Given the description of an element on the screen output the (x, y) to click on. 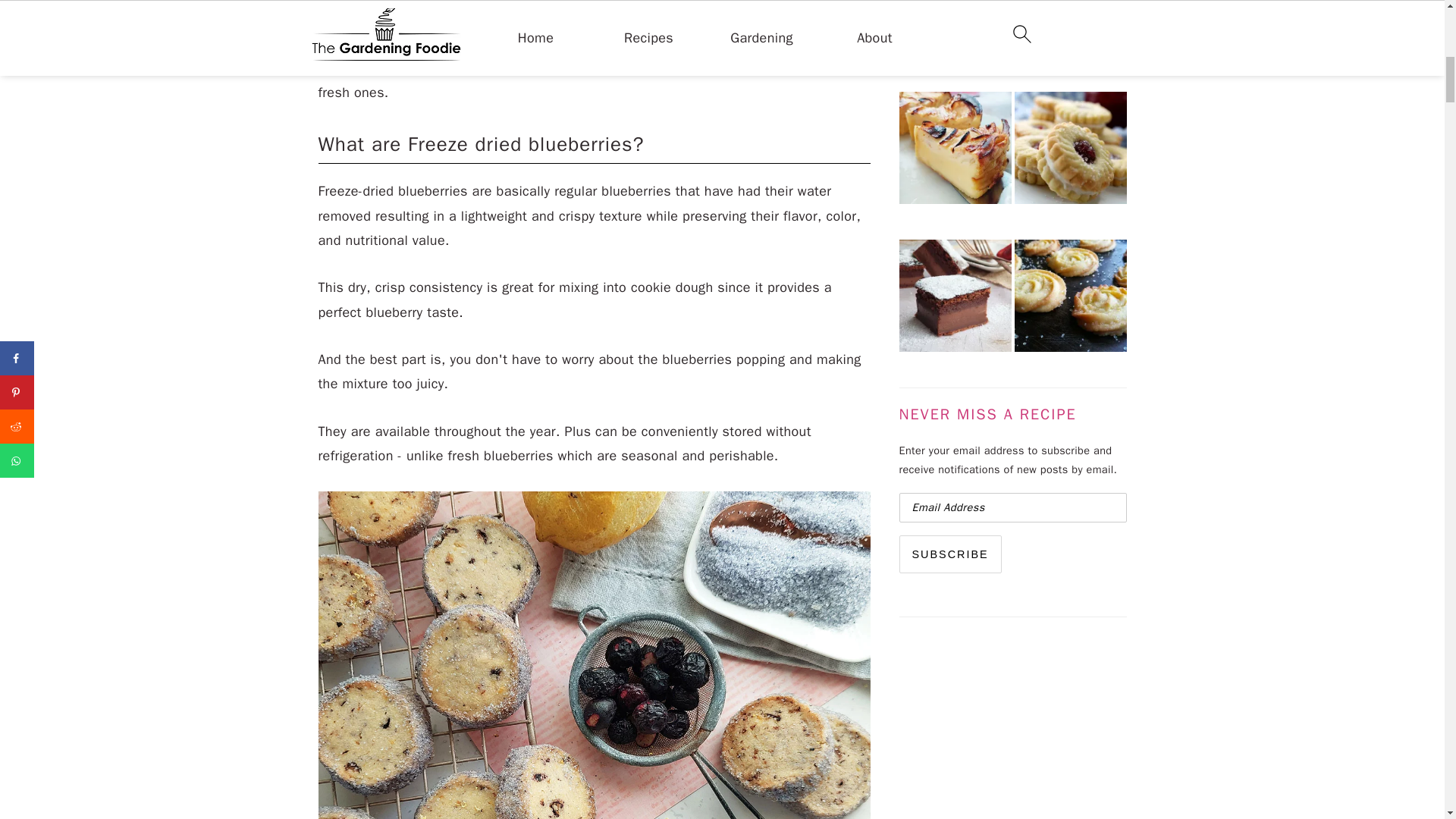
Chocolate Magic Custard Cake (955, 298)
Danish Butter Cookies (1070, 298)
Strawberry Butter Cookies (1070, 150)
French Butter Cookies (1070, 31)
No Yeast Soft Donut Recipe (955, 31)
Subscribe (950, 554)
